Given the description of an element on the screen output the (x, y) to click on. 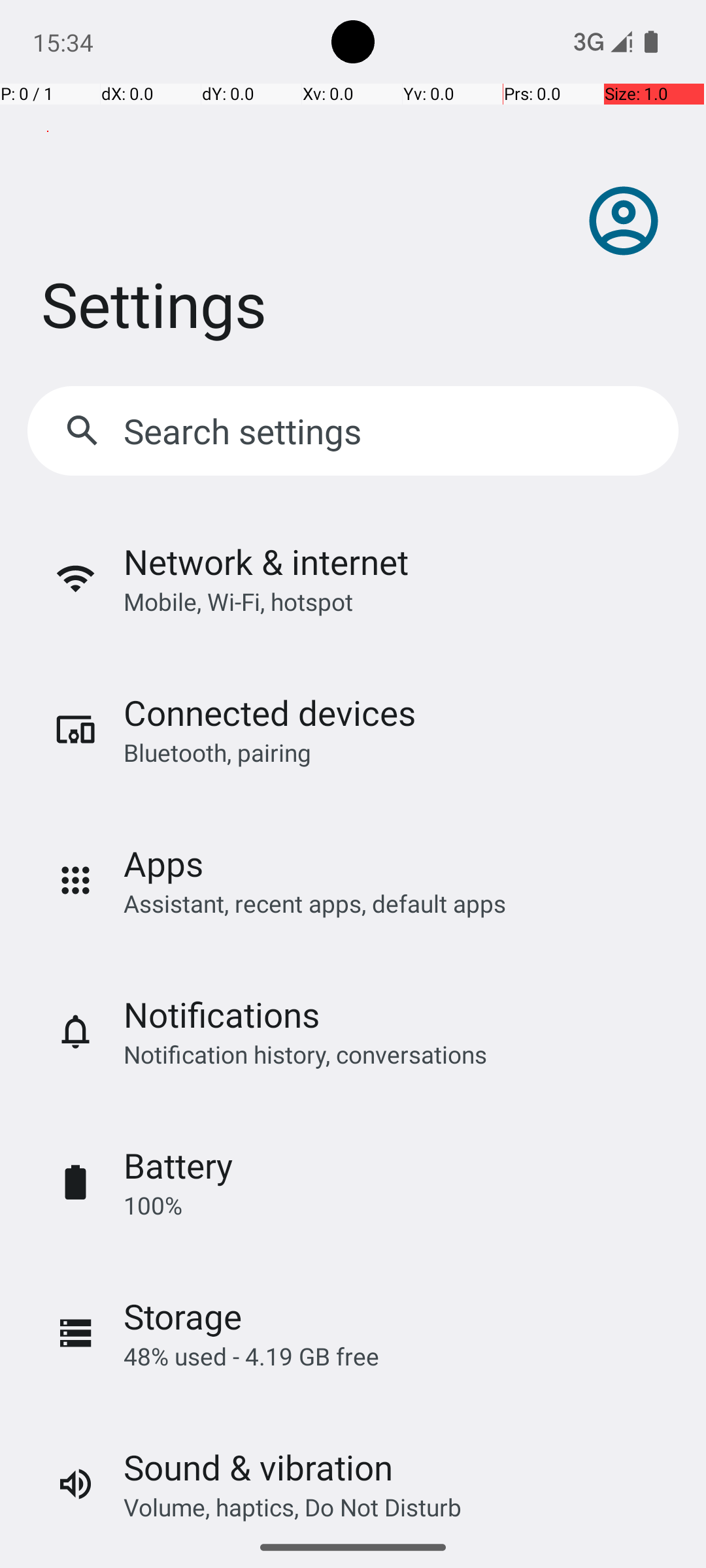
48% used - 4.19 GB free Element type: android.widget.TextView (251, 1355)
